Given the description of an element on the screen output the (x, y) to click on. 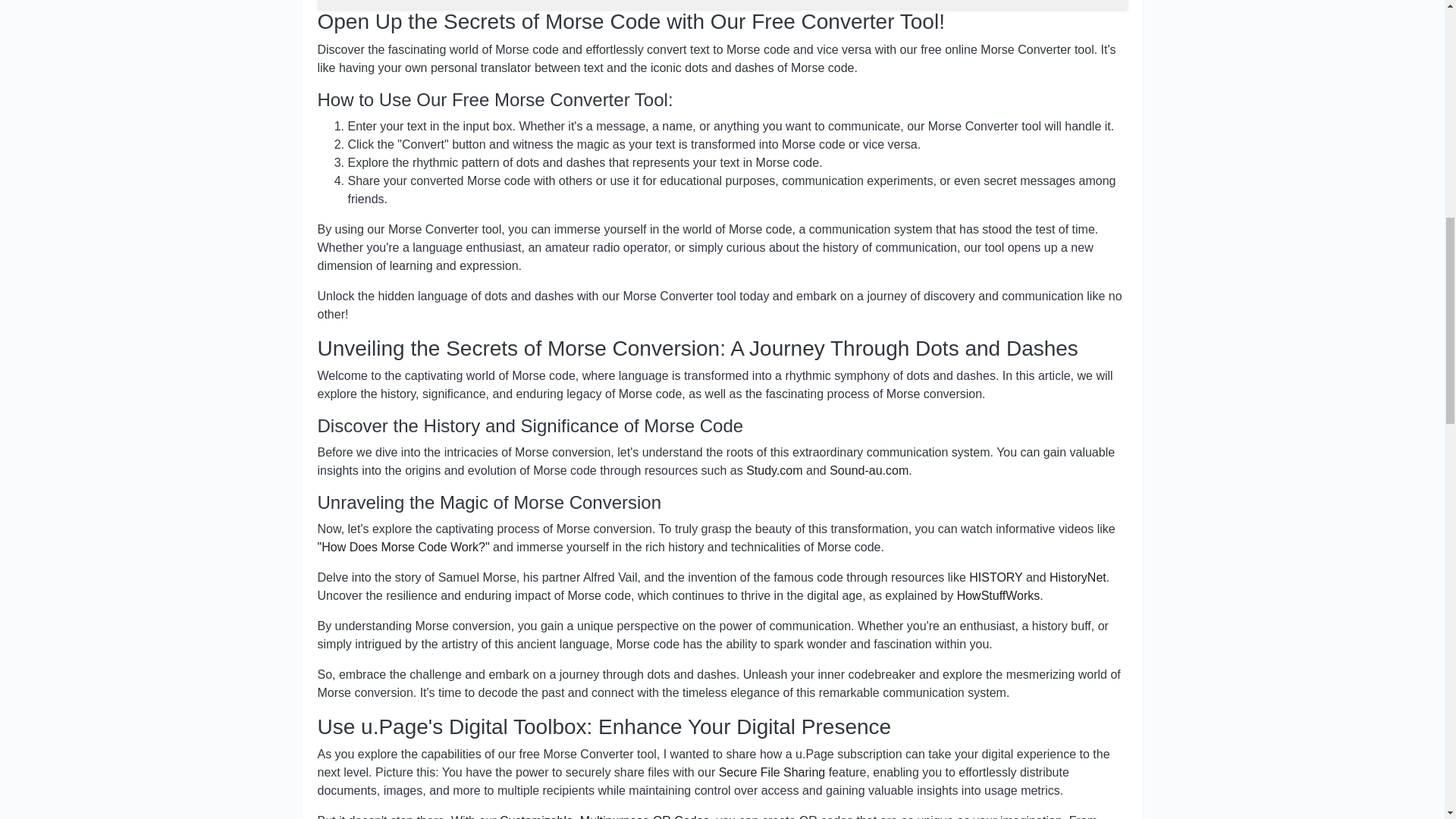
Study.com (773, 470)
"How Does Morse Code Work?" (403, 546)
HistoryNet (1077, 576)
HowStuffWorks (998, 594)
Secure File Sharing (772, 771)
Customizable, Multipurpose QR Codes (604, 816)
HISTORY (995, 576)
Sound-au.com (868, 470)
